Given the description of an element on the screen output the (x, y) to click on. 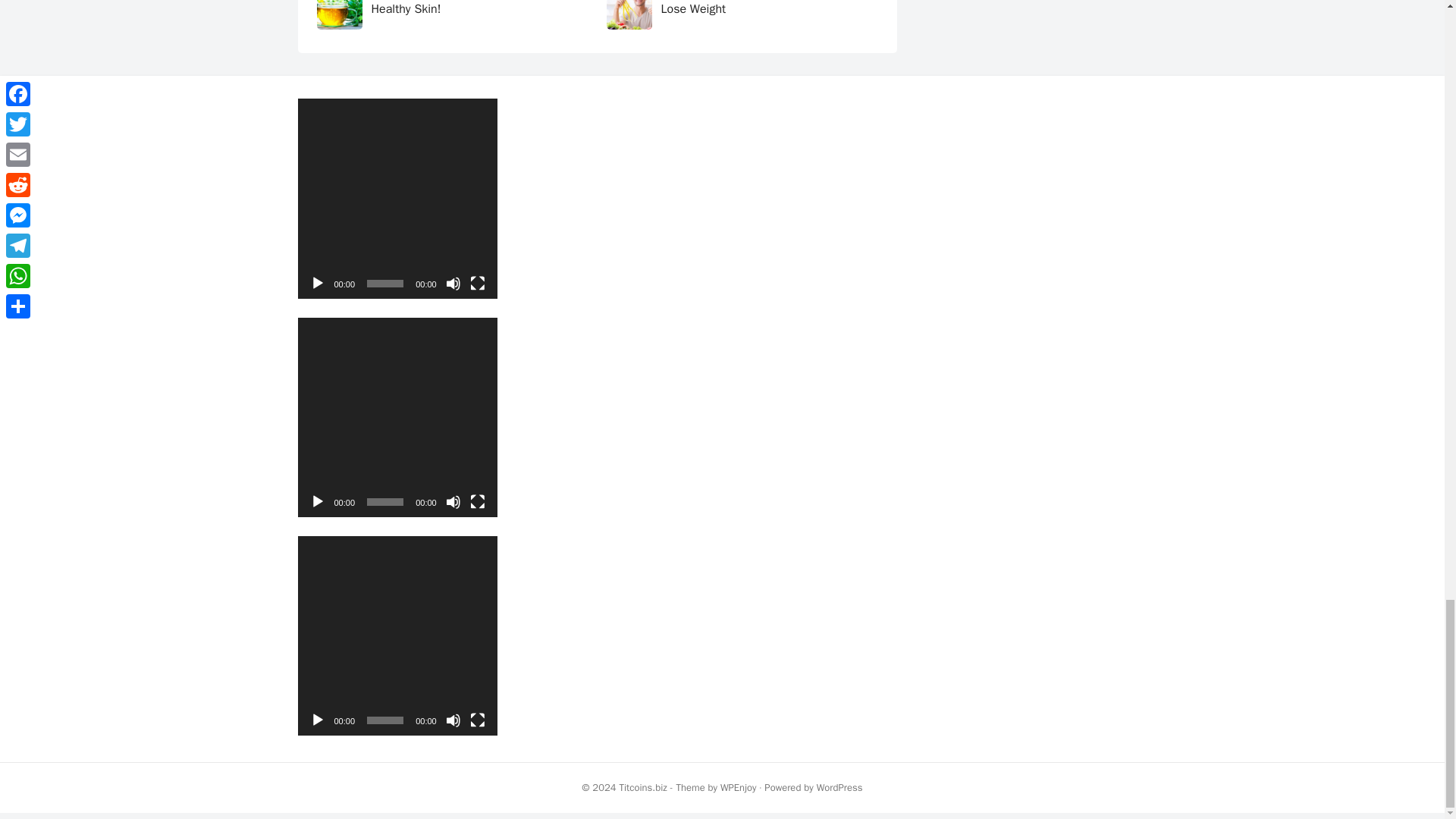
Play (316, 501)
Tips to Follow Throughout the Day to Lose Weight (757, 8)
Mute (453, 501)
Play (316, 720)
Fullscreen (477, 720)
Mute (453, 720)
Mute (453, 283)
Drink These Herbal Tea Regularly For Healthy Skin! (469, 8)
Fullscreen (477, 283)
Play (316, 283)
Fullscreen (477, 501)
